Given the description of an element on the screen output the (x, y) to click on. 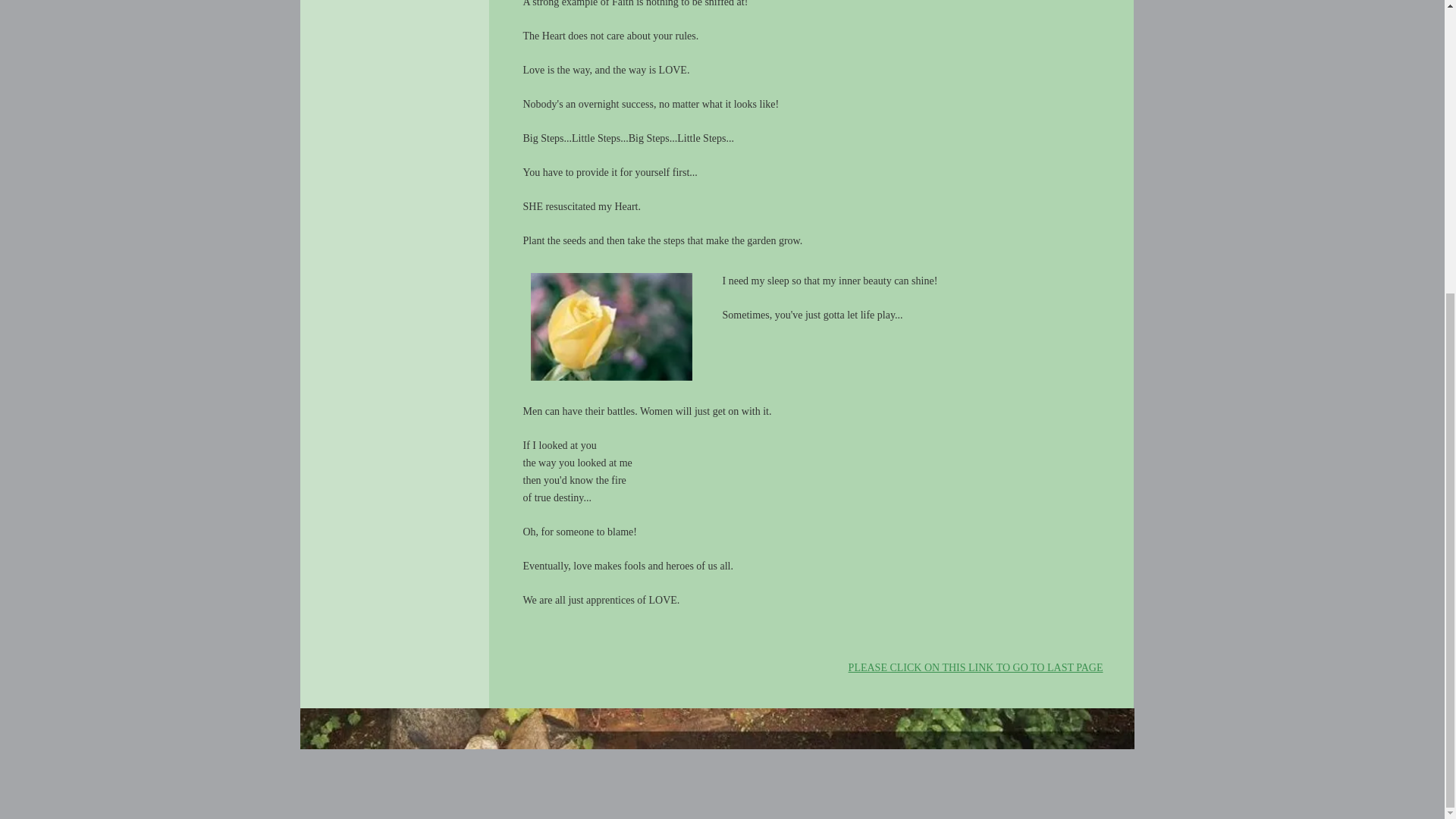
PLEASE CLICK ON THIS LINK TO GO TO LAST PAGE (975, 668)
